Given the description of an element on the screen output the (x, y) to click on. 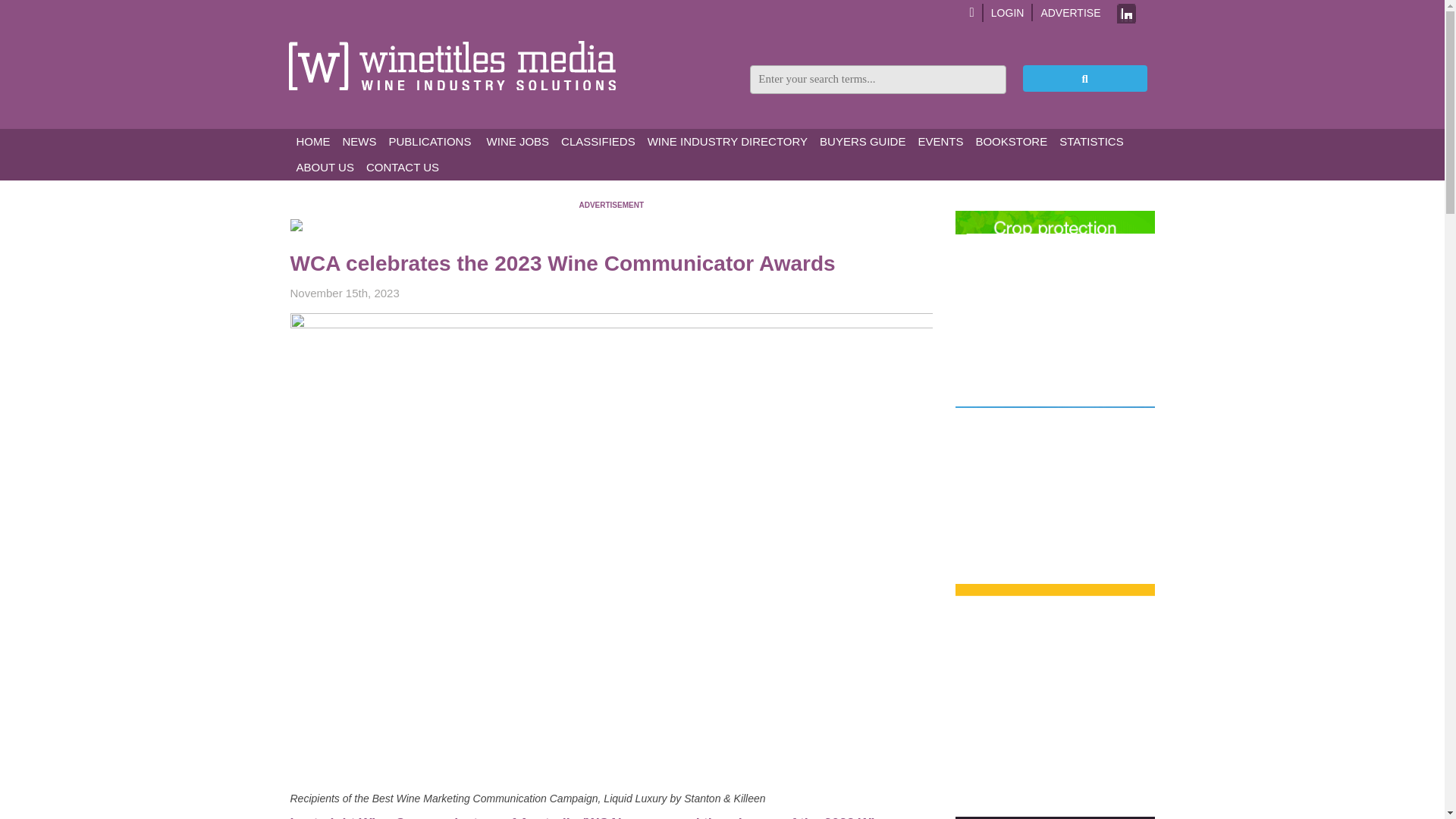
 WINE JOBS (515, 141)
NEWS (359, 141)
ADVERTISE (1070, 12)
Home (312, 141)
HOME (312, 141)
CLASSIFIEDS (598, 141)
LOGIN (1008, 12)
EVENTS (940, 141)
WINE INDUSTRY DIRECTORY (727, 141)
Wine Jobs (515, 141)
Classifieds (598, 141)
BUYERS GUIDE (862, 141)
Wine Industry Directory (727, 141)
Publications (429, 141)
News (359, 141)
